Given the description of an element on the screen output the (x, y) to click on. 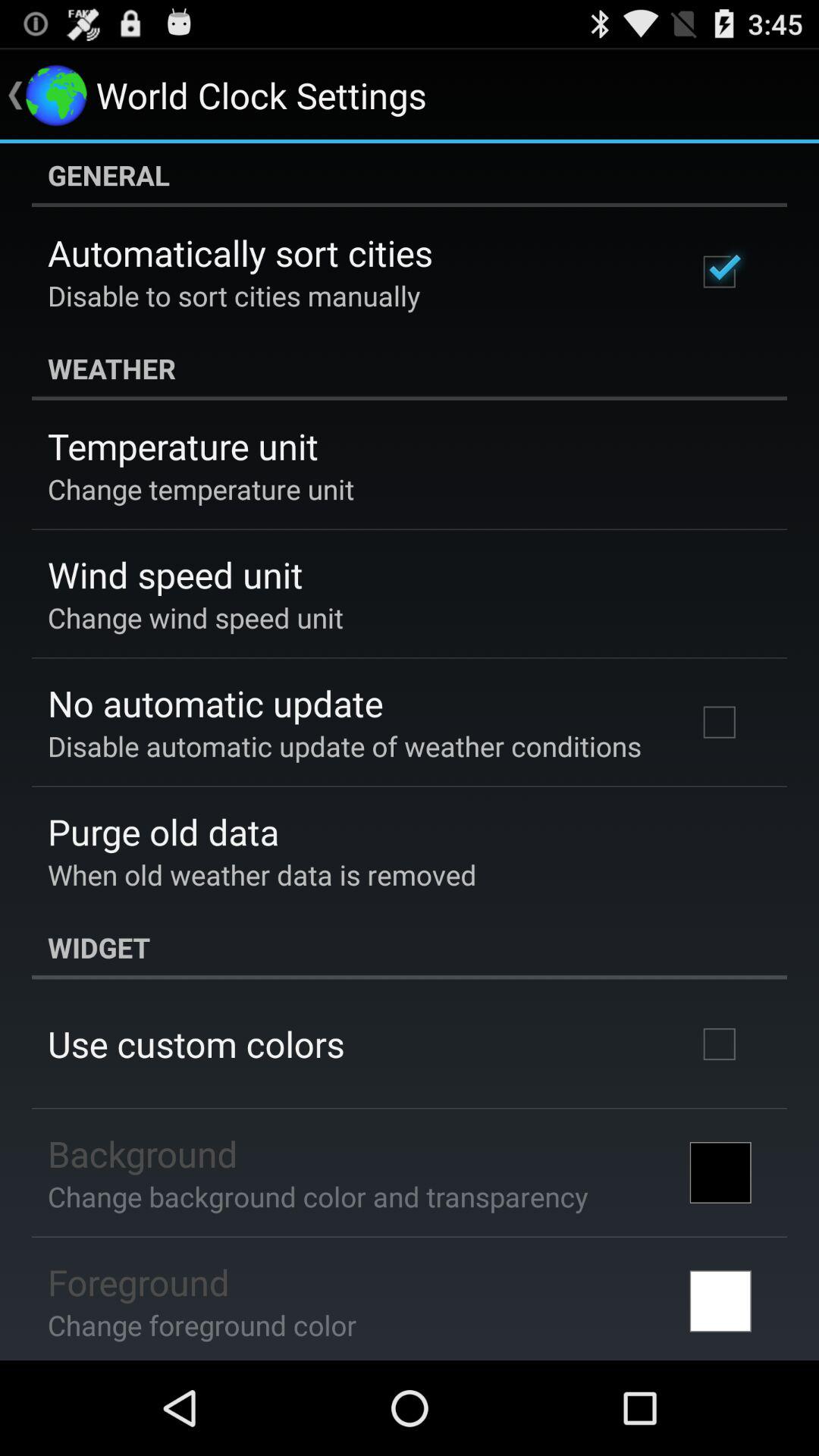
choose item below automatically sort cities app (233, 295)
